Given the description of an element on the screen output the (x, y) to click on. 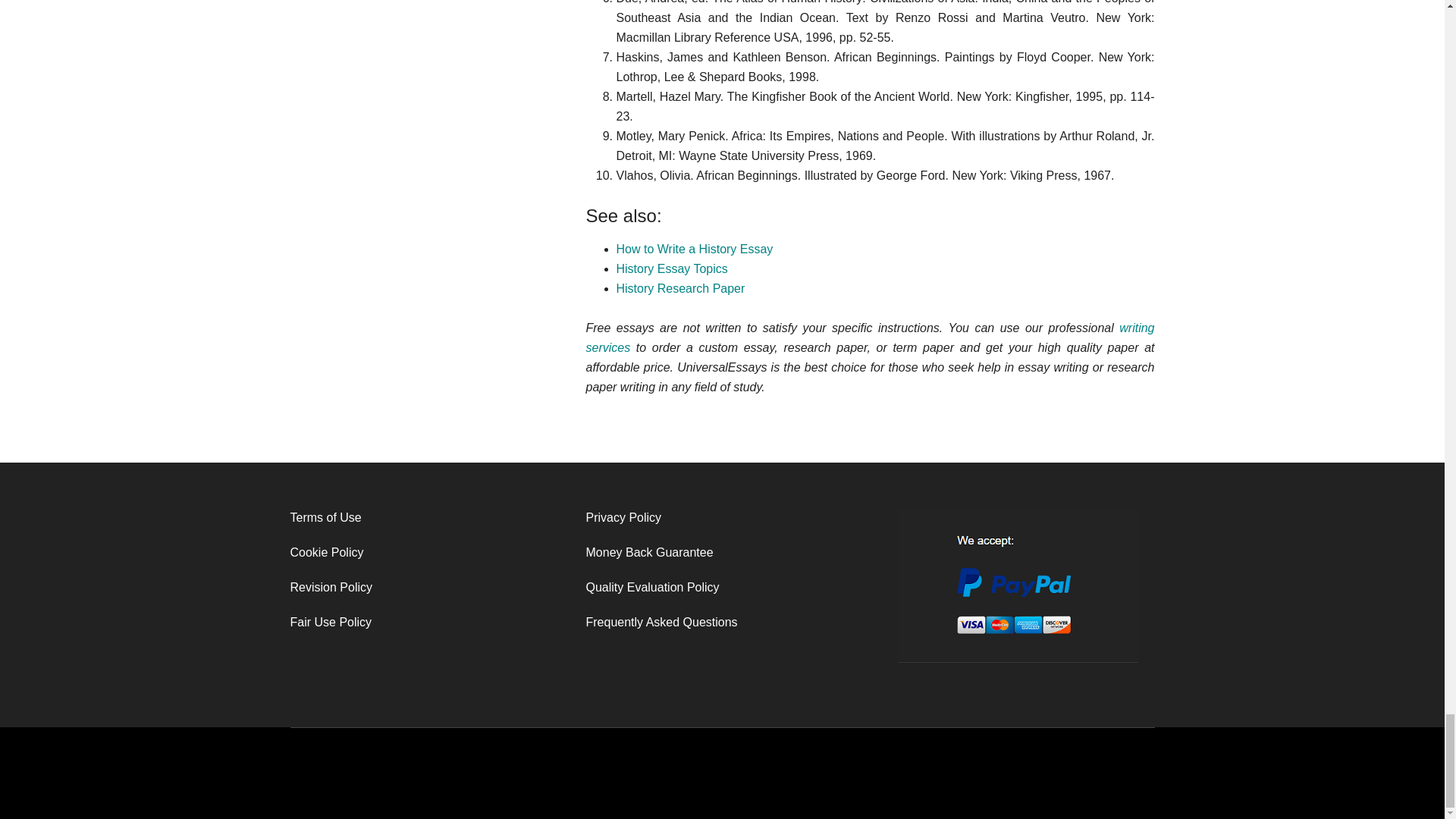
writing services (869, 337)
History Research Paper (679, 287)
How to Write a History Essay (694, 248)
History Essay Topics (670, 268)
